Given the description of an element on the screen output the (x, y) to click on. 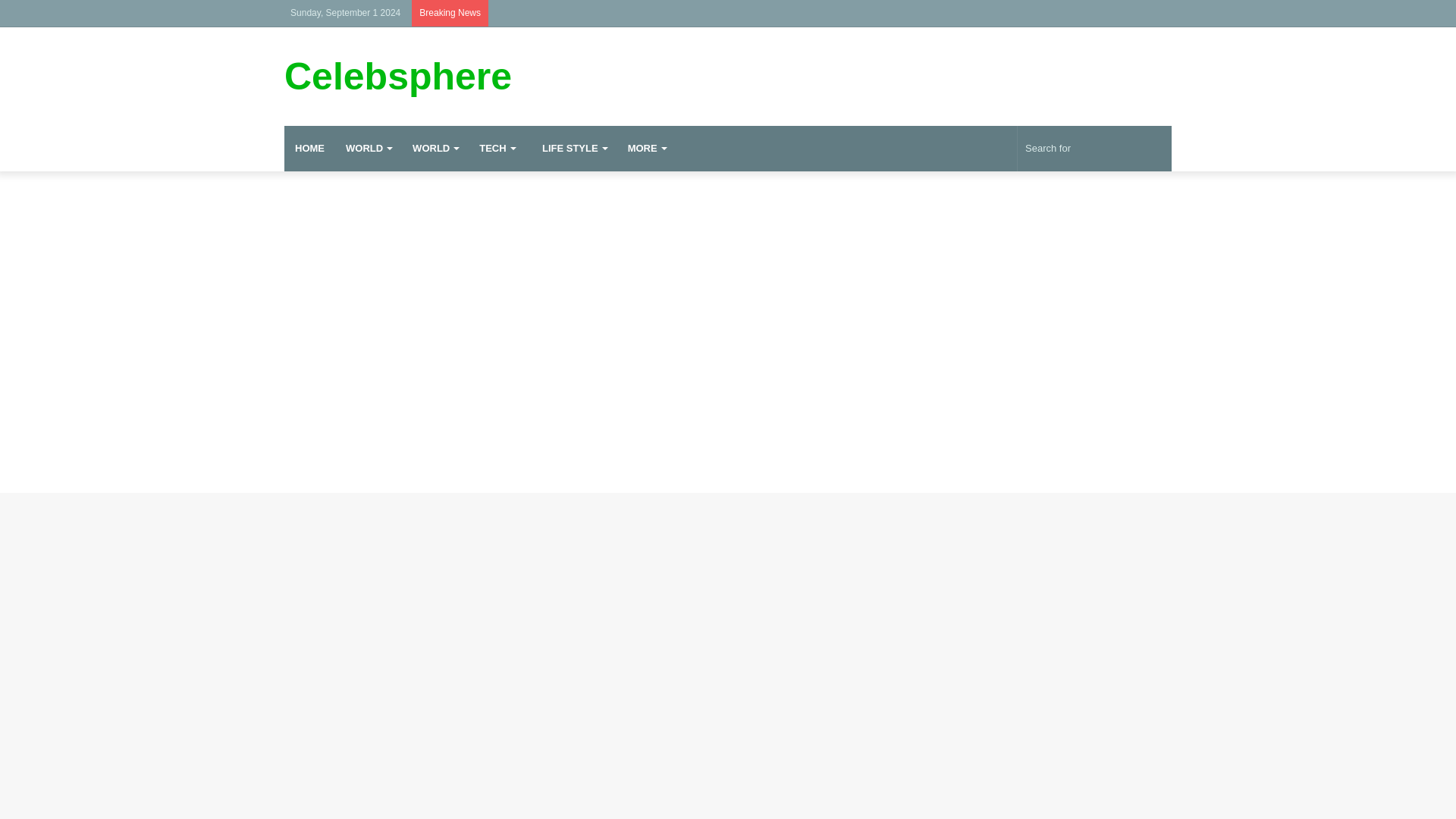
Celebsphere (397, 76)
LIFE STYLE (571, 148)
MORE (647, 148)
WORLD (367, 148)
HOME (308, 148)
Search for (1094, 148)
WORLD (434, 148)
TECH (496, 148)
Celebsphere (397, 76)
